Given the description of an element on the screen output the (x, y) to click on. 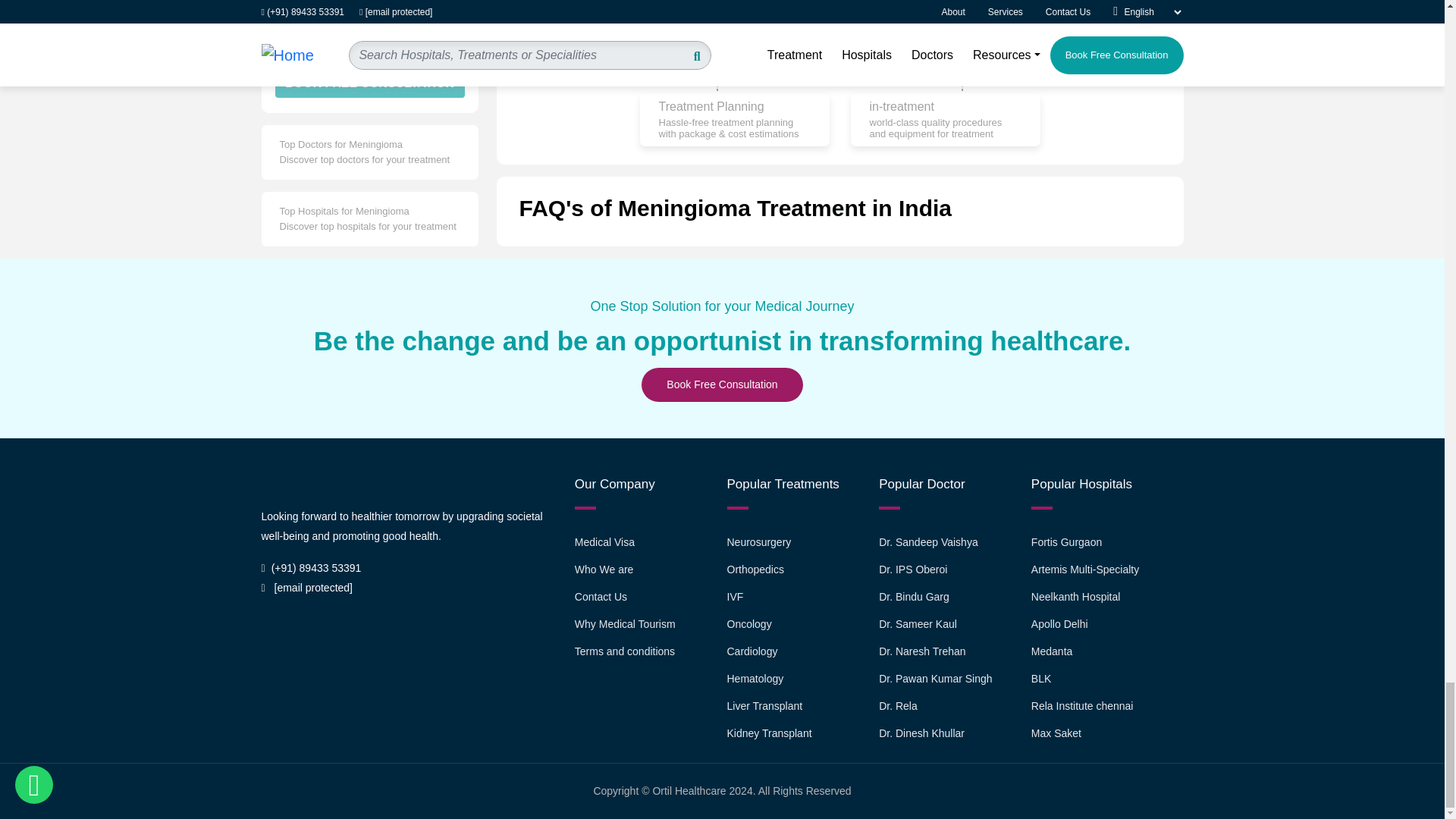
Book Free Consultation (722, 384)
